Given the description of an element on the screen output the (x, y) to click on. 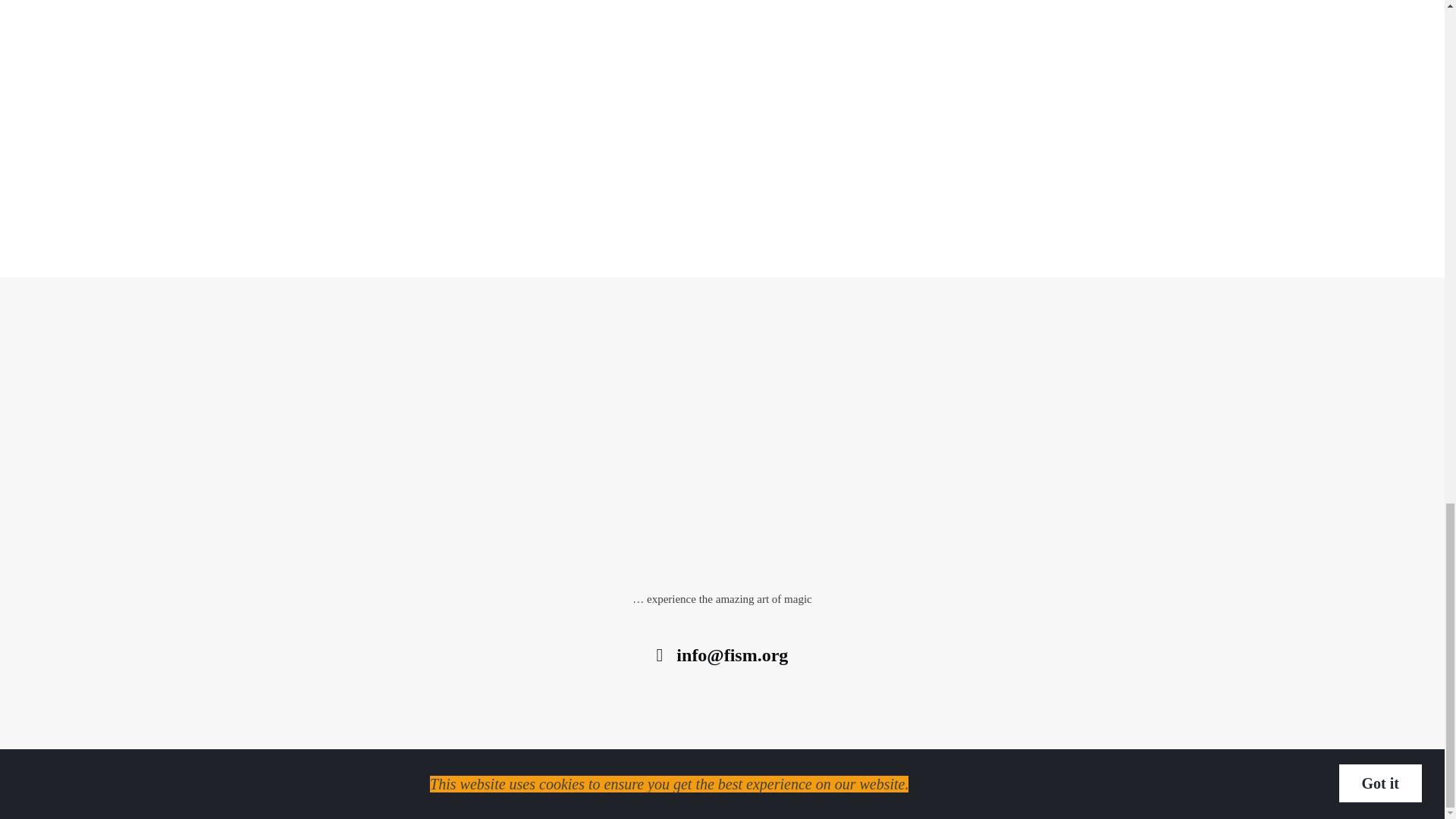
Terms of Use (857, 793)
Privacy Policy (782, 793)
